Given the description of an element on the screen output the (x, y) to click on. 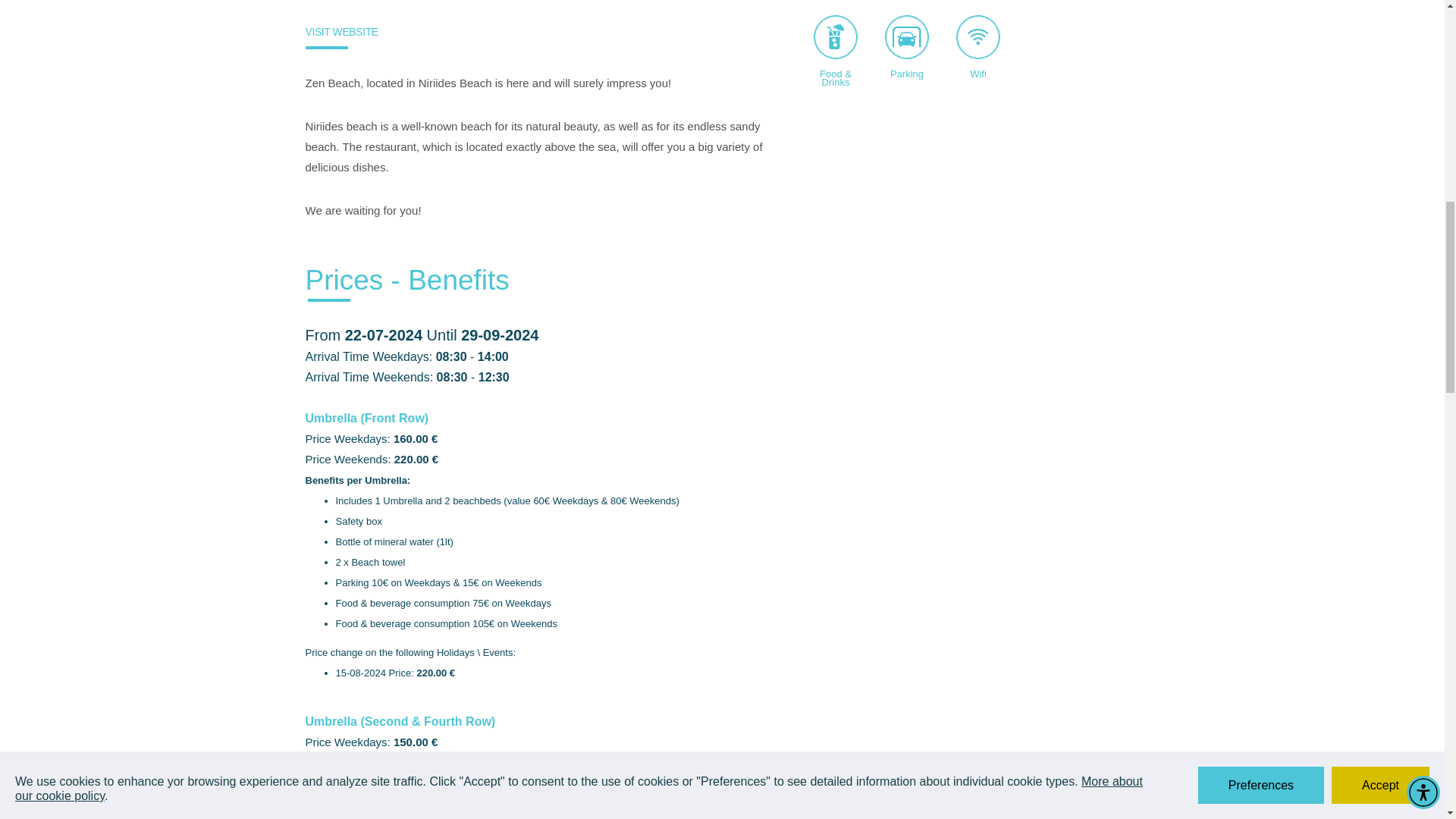
VISIT WEBSITE (340, 31)
